Given the description of an element on the screen output the (x, y) to click on. 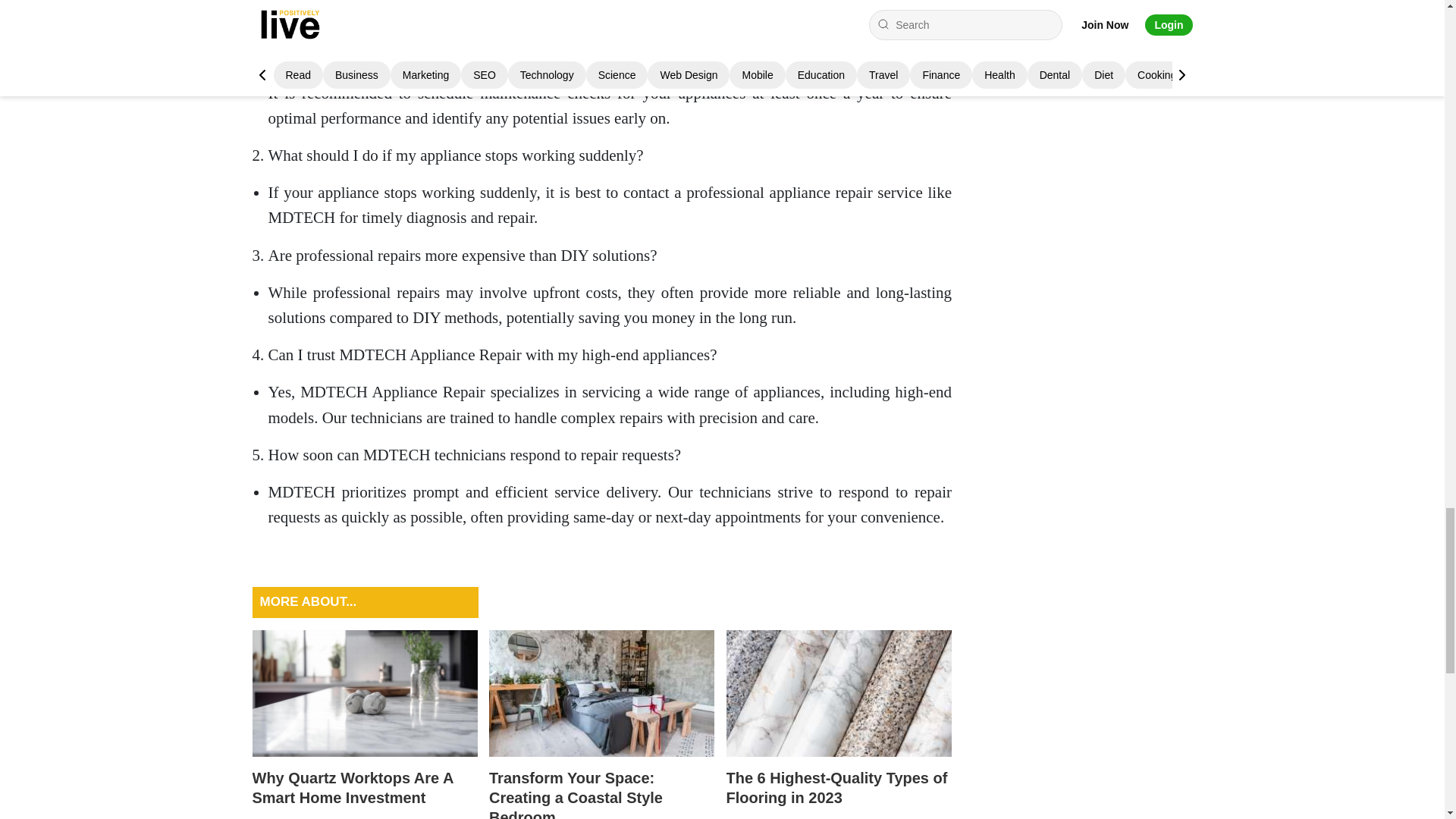
Highest Quality Types (839, 692)
The 6 Highest-Quality Types of Flooring in 2023 (839, 724)
A Smart Home Investment (364, 692)
Why Quartz Worktops Are A Smart Home Investment (364, 724)
Transform Your Space: Creating a Coastal Style Bedroom (601, 724)
Coastal Bedroom Makeover (601, 692)
